Given the description of an element on the screen output the (x, y) to click on. 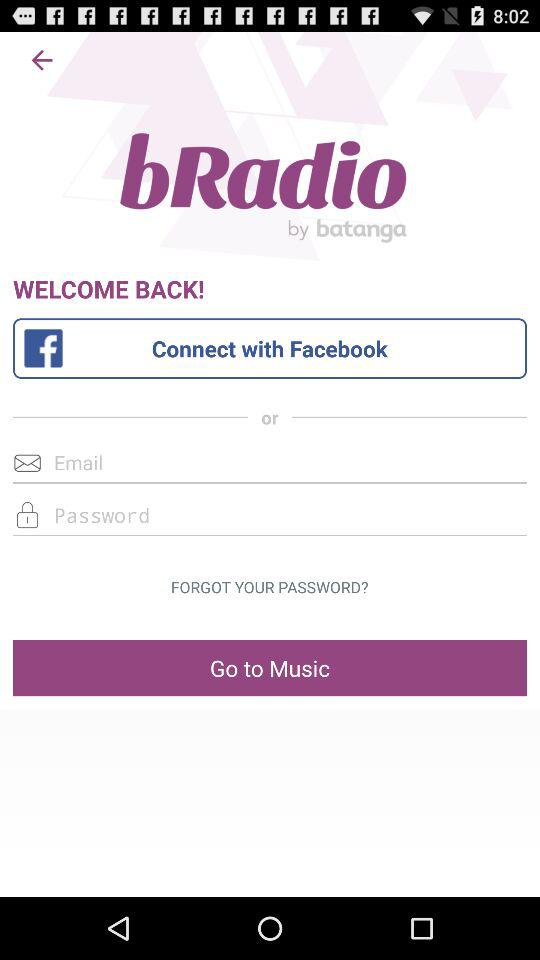
log-in with facebook (269, 348)
